Given the description of an element on the screen output the (x, y) to click on. 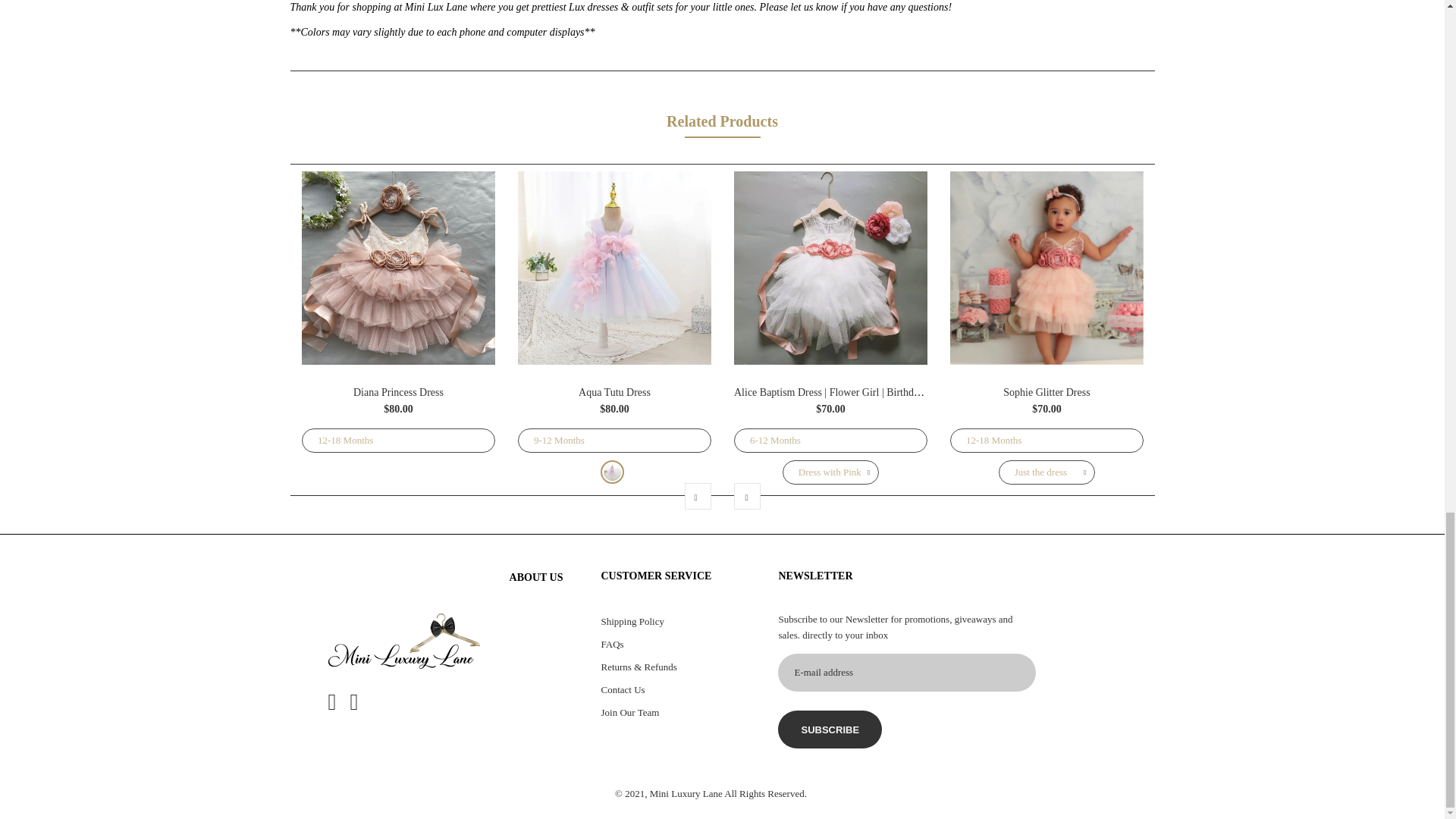
Light Blue (611, 472)
